Given the description of an element on the screen output the (x, y) to click on. 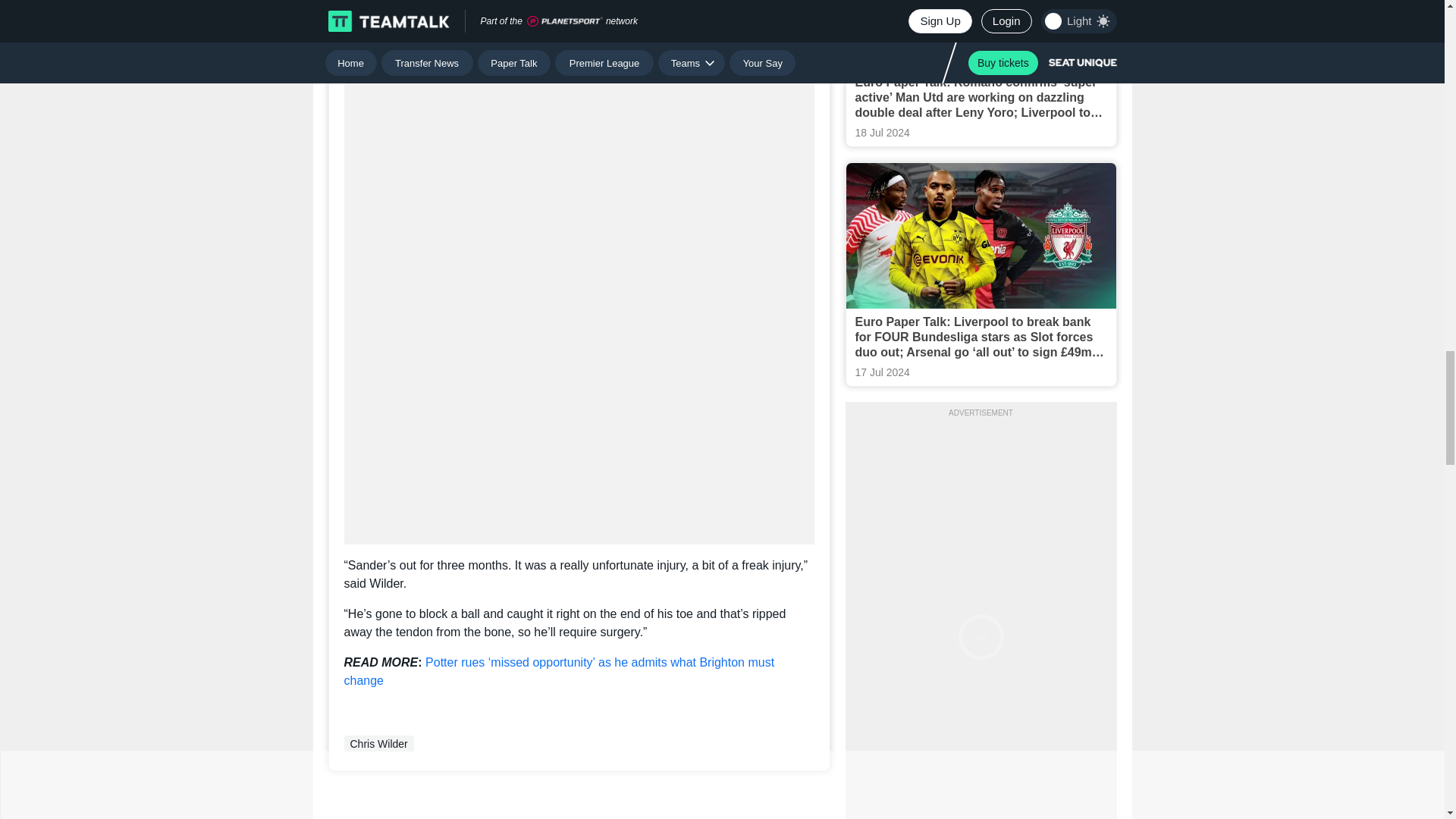
3rd party ad content (579, 166)
Content continues below (578, 30)
